Given the description of an element on the screen output the (x, y) to click on. 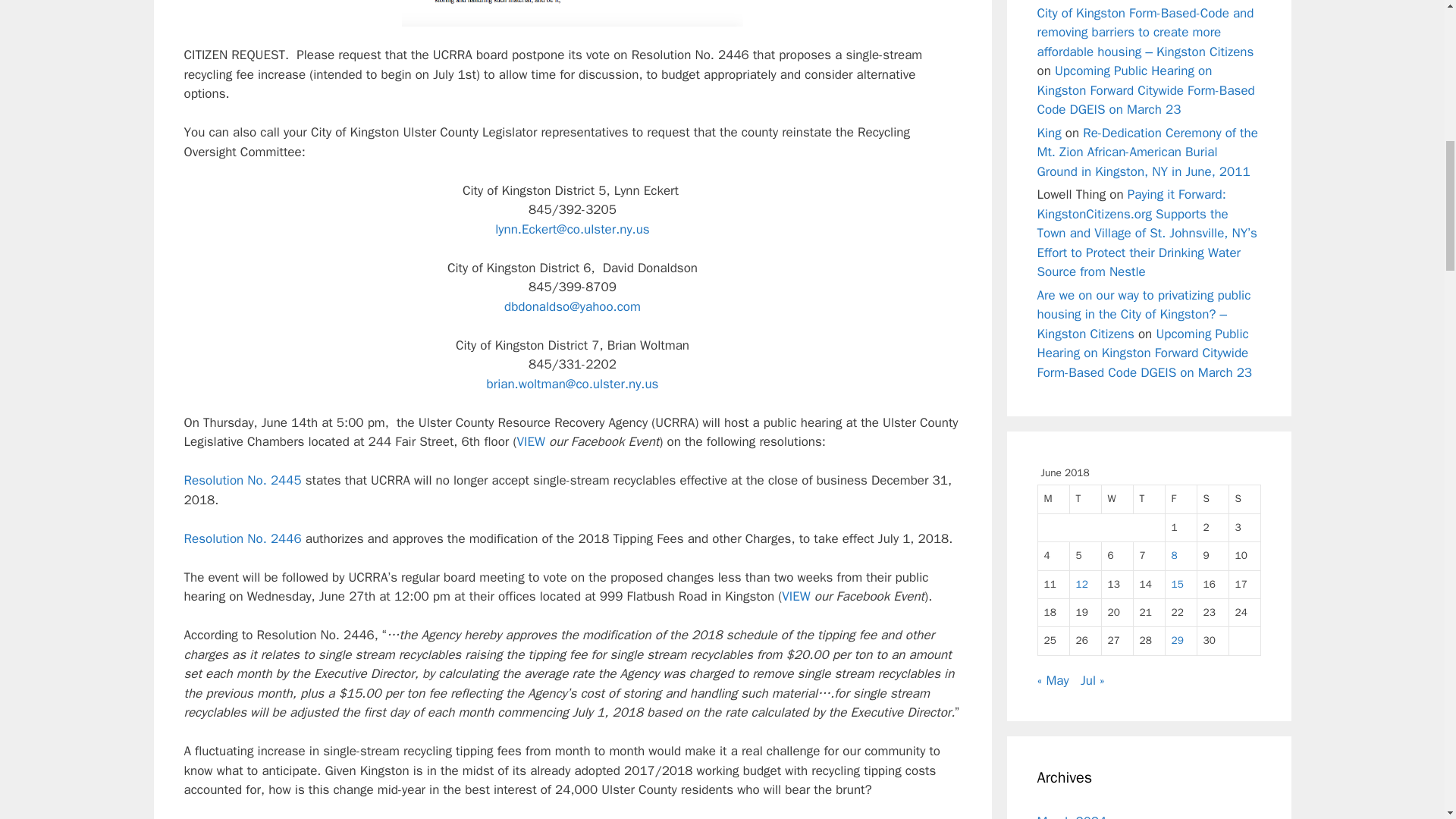
Monday (1052, 499)
Saturday (1212, 499)
Tuesday (1084, 499)
Sunday (1244, 499)
Wednesday (1116, 499)
Friday (1180, 499)
Thursday (1148, 499)
